Given the description of an element on the screen output the (x, y) to click on. 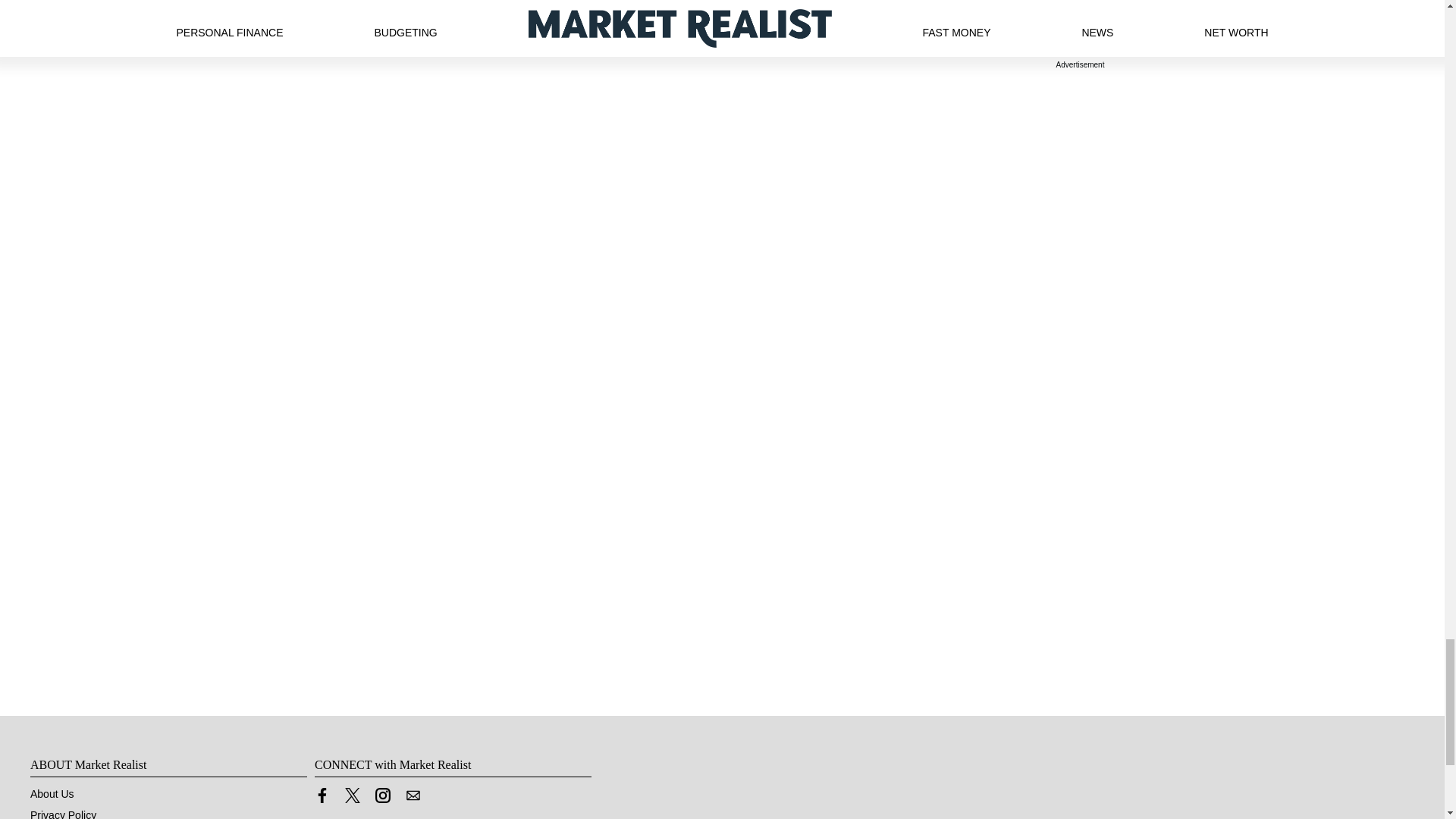
Link to Facebook (322, 795)
Link to Instagram (382, 799)
Link to X (352, 799)
Privacy Policy (63, 814)
Link to Instagram (382, 795)
Contact us by Email (413, 799)
About Us (52, 793)
Privacy Policy (63, 814)
About Us (52, 793)
Contact us by Email (413, 795)
